Given the description of an element on the screen output the (x, y) to click on. 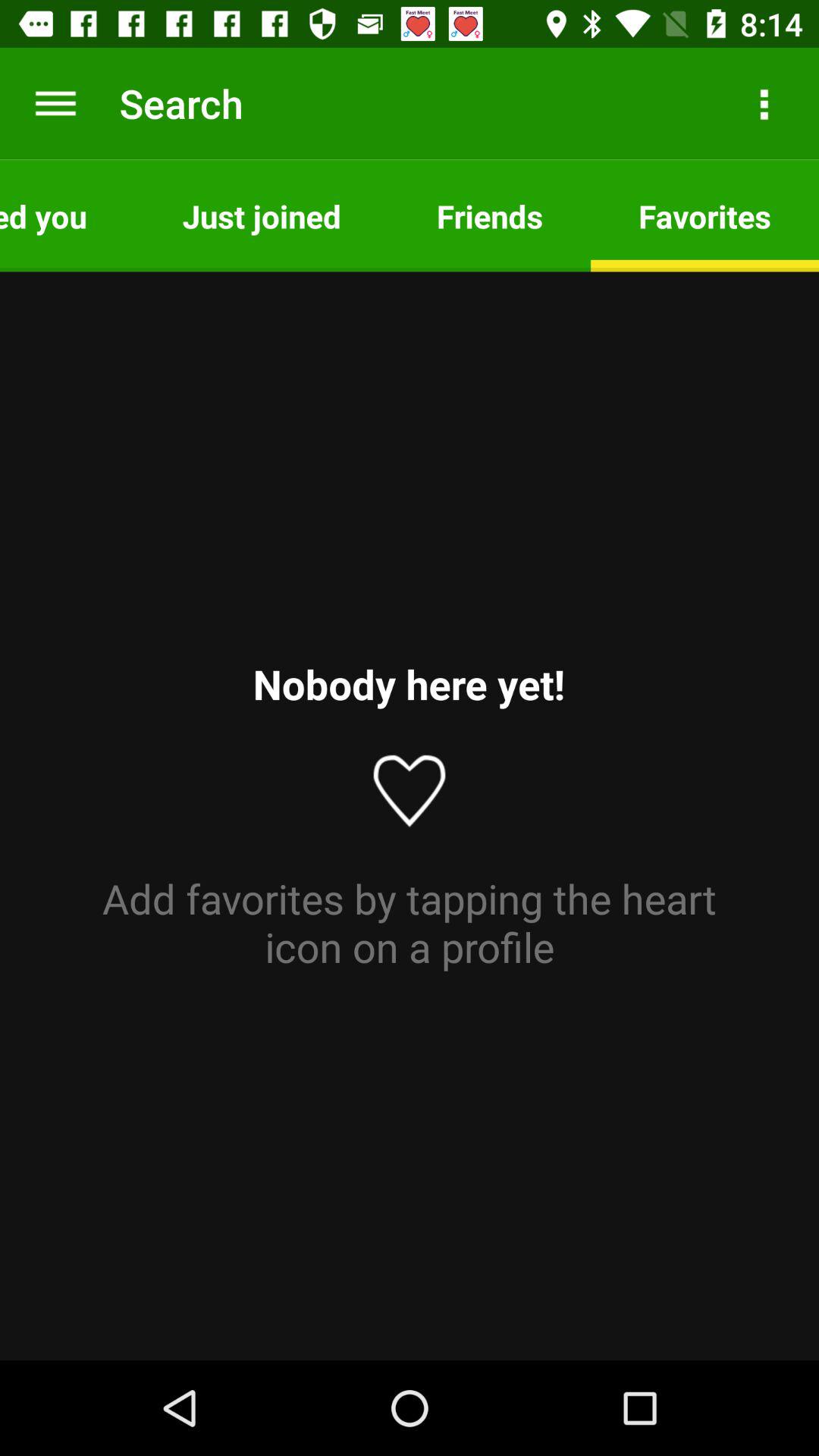
turn on the icon above the nobody here yet! app (261, 215)
